Given the description of an element on the screen output the (x, y) to click on. 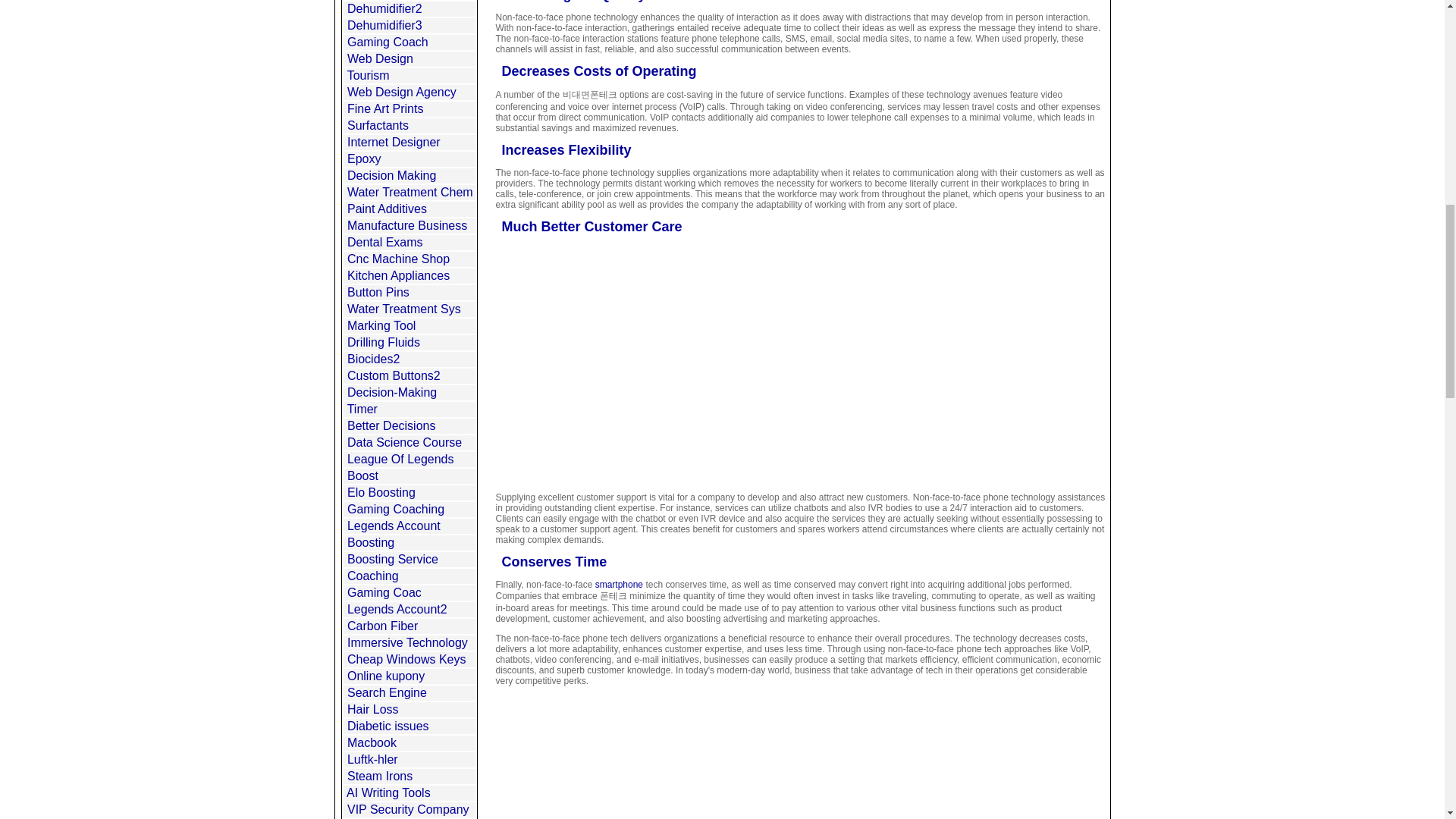
Web Design (380, 58)
Dehumidifier3 (384, 24)
Web Design Agency (402, 91)
YouTube video player (708, 363)
Tourism (368, 74)
Dehumidifier2 (384, 8)
Gaming Coach (387, 42)
